Given the description of an element on the screen output the (x, y) to click on. 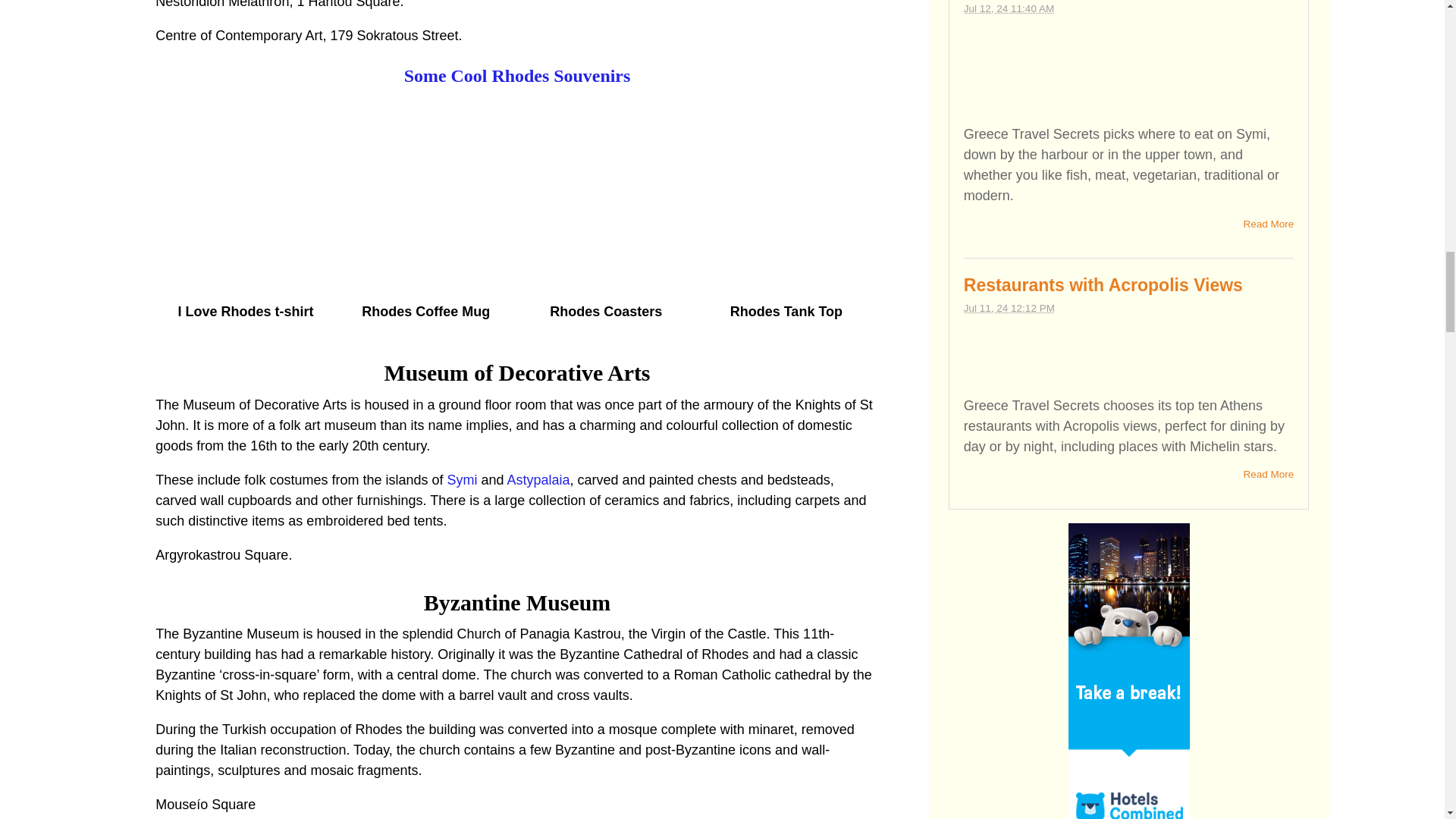
2024-07-11T12:12:13-0400 (1008, 307)
2024-07-12T11:40:04-0400 (1008, 8)
I-love-Rhodes-t-shirt.jpg (245, 194)
Rhodes-coffee-mug-zazzle.jpg (426, 194)
Rhodes-coaster-zazzle.jpg (605, 194)
Rhodes-tank-top-zazzle.jpg (785, 194)
